Given the description of an element on the screen output the (x, y) to click on. 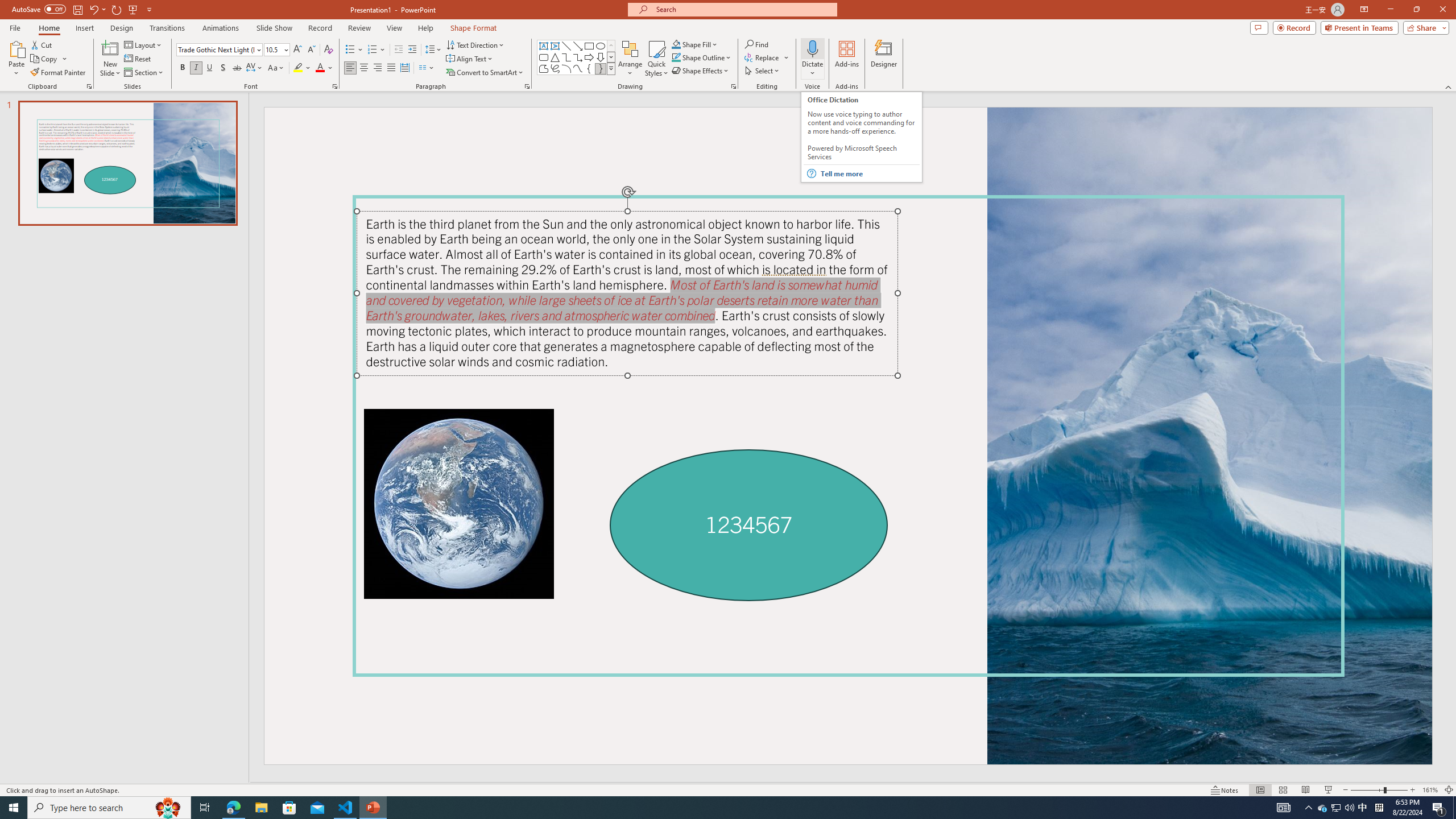
Zoom 161% (1430, 790)
